Given the description of an element on the screen output the (x, y) to click on. 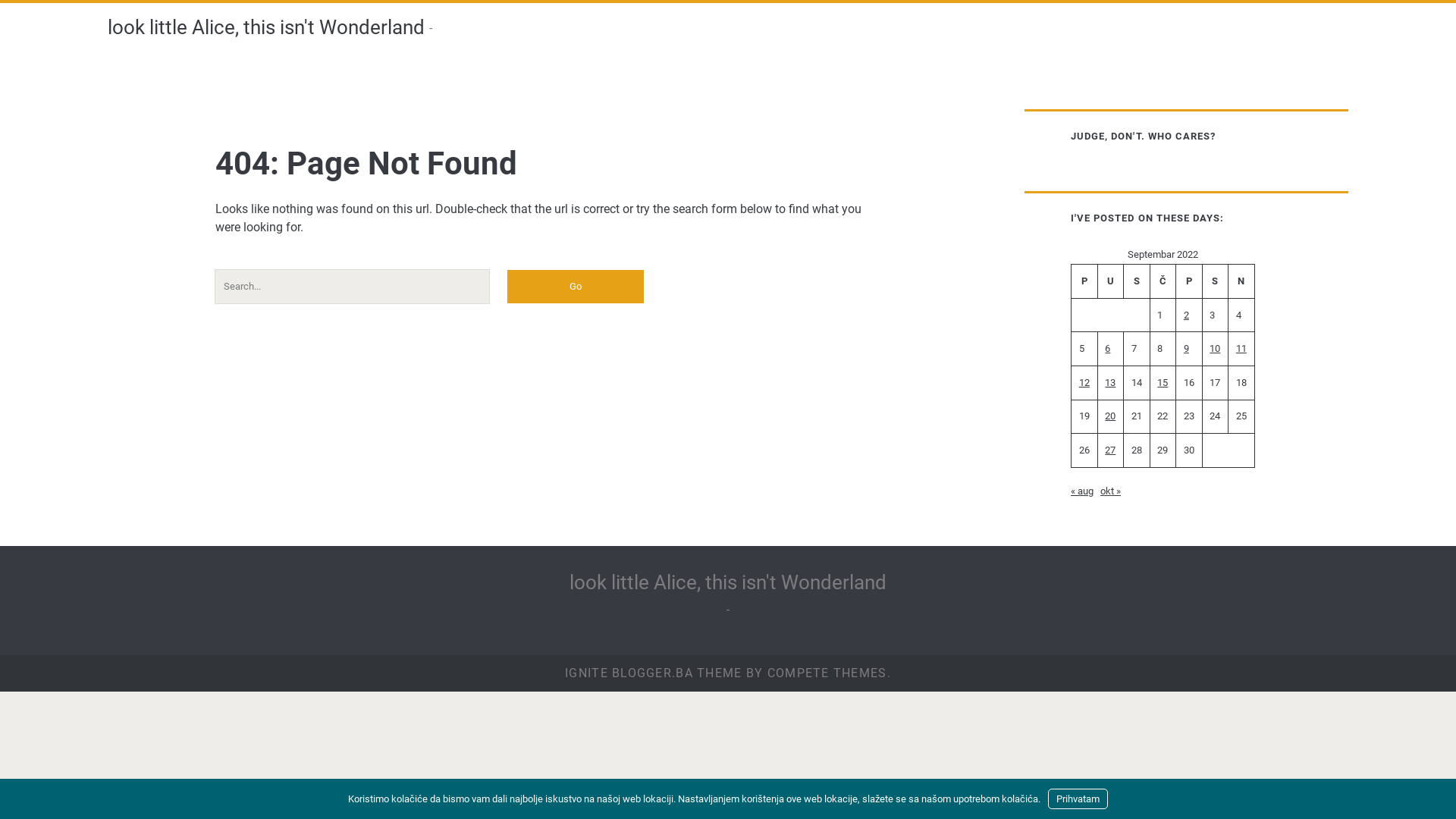
20 Element type: text (1109, 415)
Search for: Element type: hover (352, 286)
2 Element type: text (1186, 314)
look little Alice, this isn't Wonderland Element type: text (727, 582)
27 Element type: text (1109, 449)
12 Element type: text (1084, 382)
Go Element type: text (575, 286)
15 Element type: text (1162, 382)
11 Element type: text (1241, 348)
13 Element type: text (1109, 382)
6 Element type: text (1107, 348)
10 Element type: text (1214, 348)
9 Element type: text (1186, 348)
look little Alice, this isn't Wonderland Element type: text (265, 27)
Prihvatam Element type: text (1077, 798)
IGNITE BLOGGER.BA THEME Element type: text (652, 672)
